Given the description of an element on the screen output the (x, y) to click on. 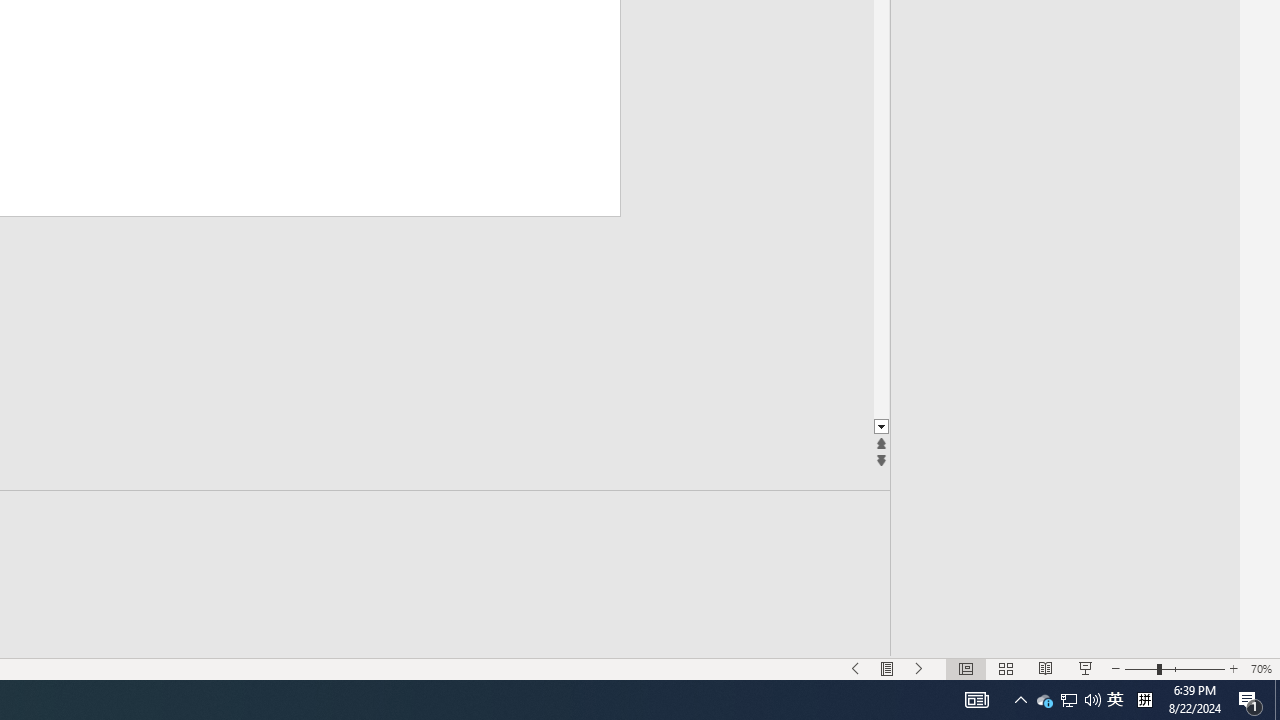
Slide Show Next On (1044, 699)
Action Center, 1 new notification (919, 668)
Zoom 70% (1250, 699)
